Given the description of an element on the screen output the (x, y) to click on. 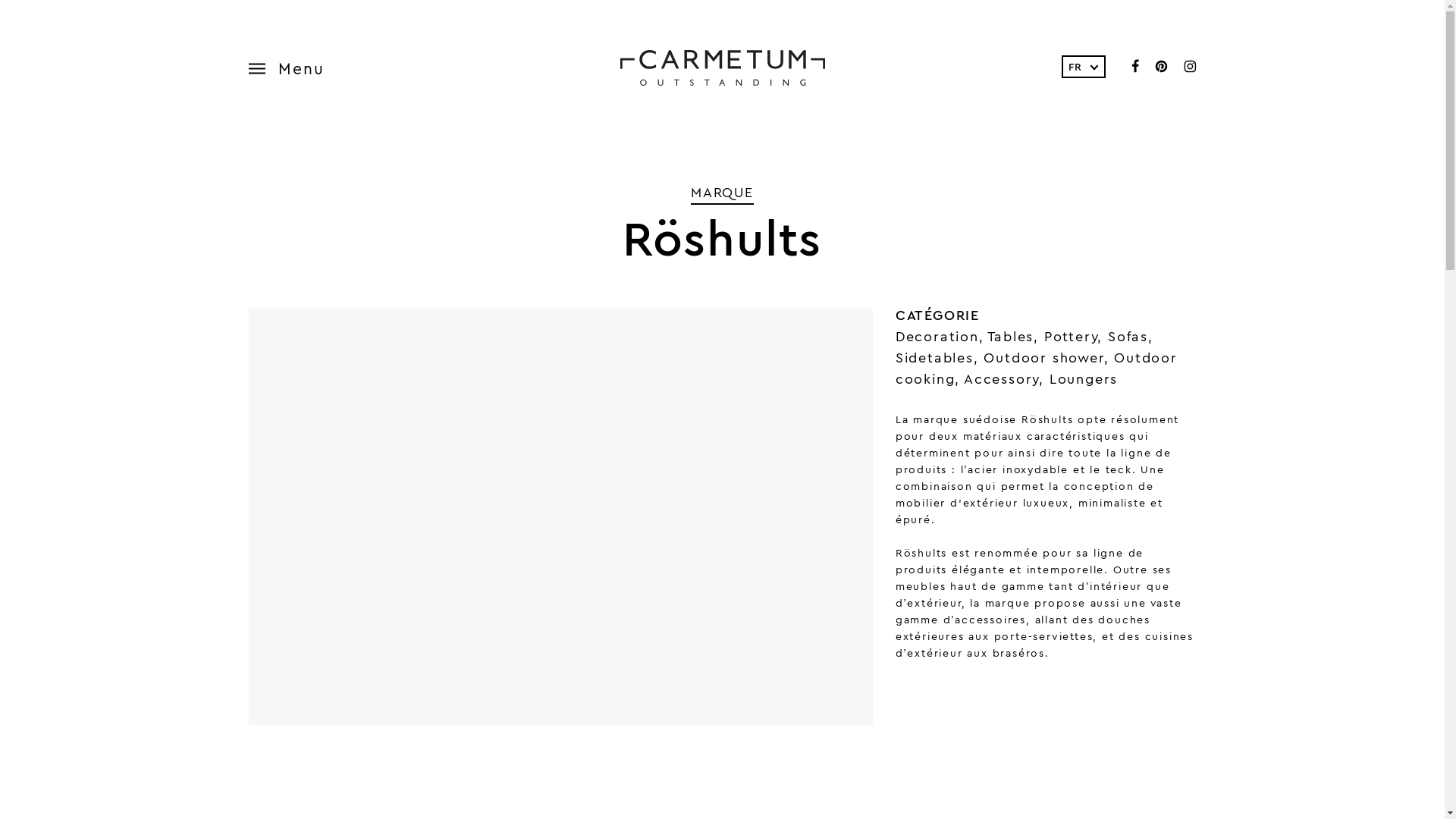
NL Element type: text (1082, 86)
Menu Element type: text (293, 67)
FR
NL Element type: text (1083, 66)
FR Element type: text (1082, 66)
